Given the description of an element on the screen output the (x, y) to click on. 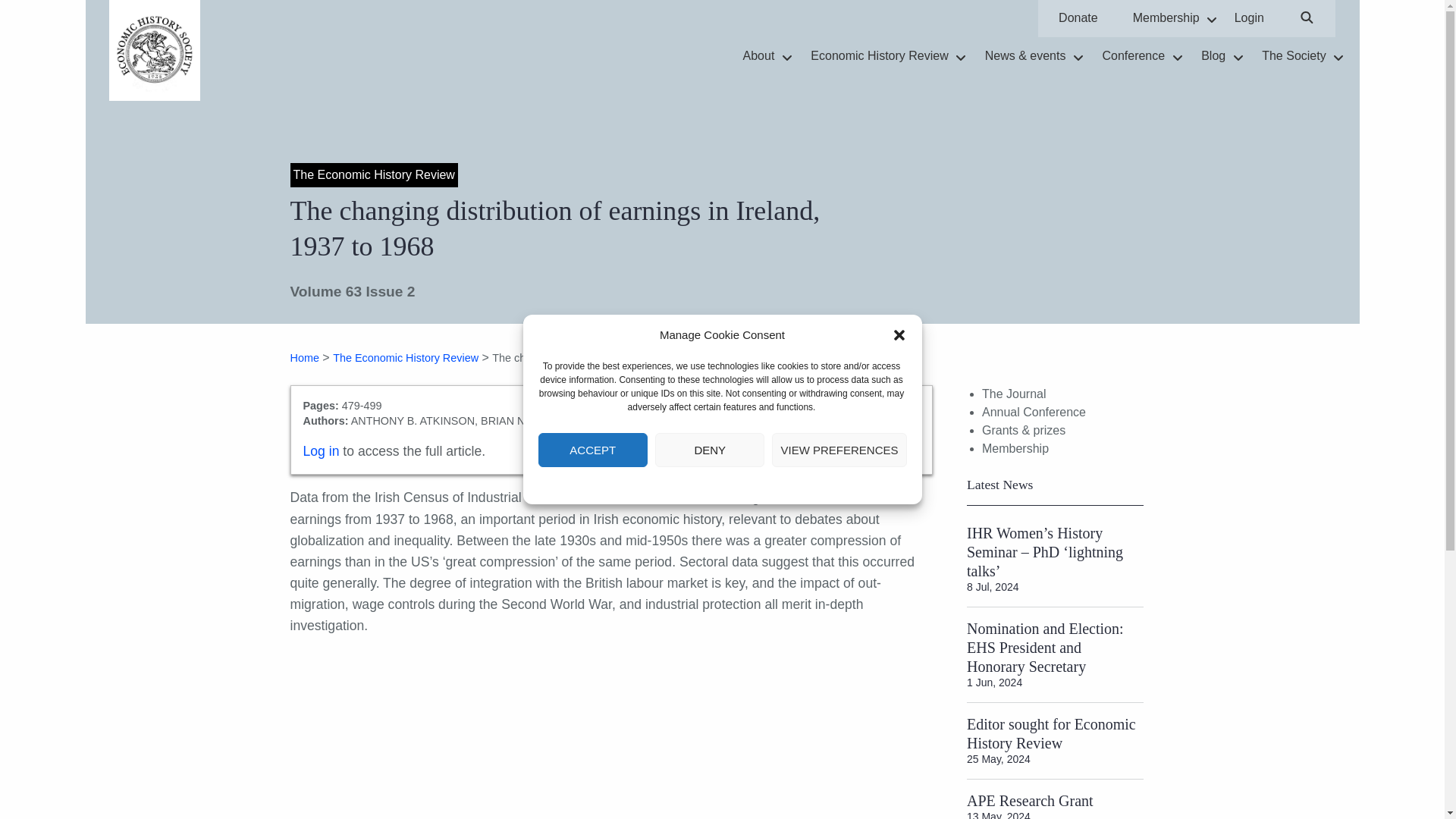
Go to Economic History Society. (303, 357)
Donate (1077, 18)
VIEW PREFERENCES (838, 449)
Membership (1166, 18)
ACCEPT (592, 449)
DENY (709, 449)
Cookie policy (826, 18)
Login (690, 484)
Economic History Review (1249, 18)
